Given the description of an element on the screen output the (x, y) to click on. 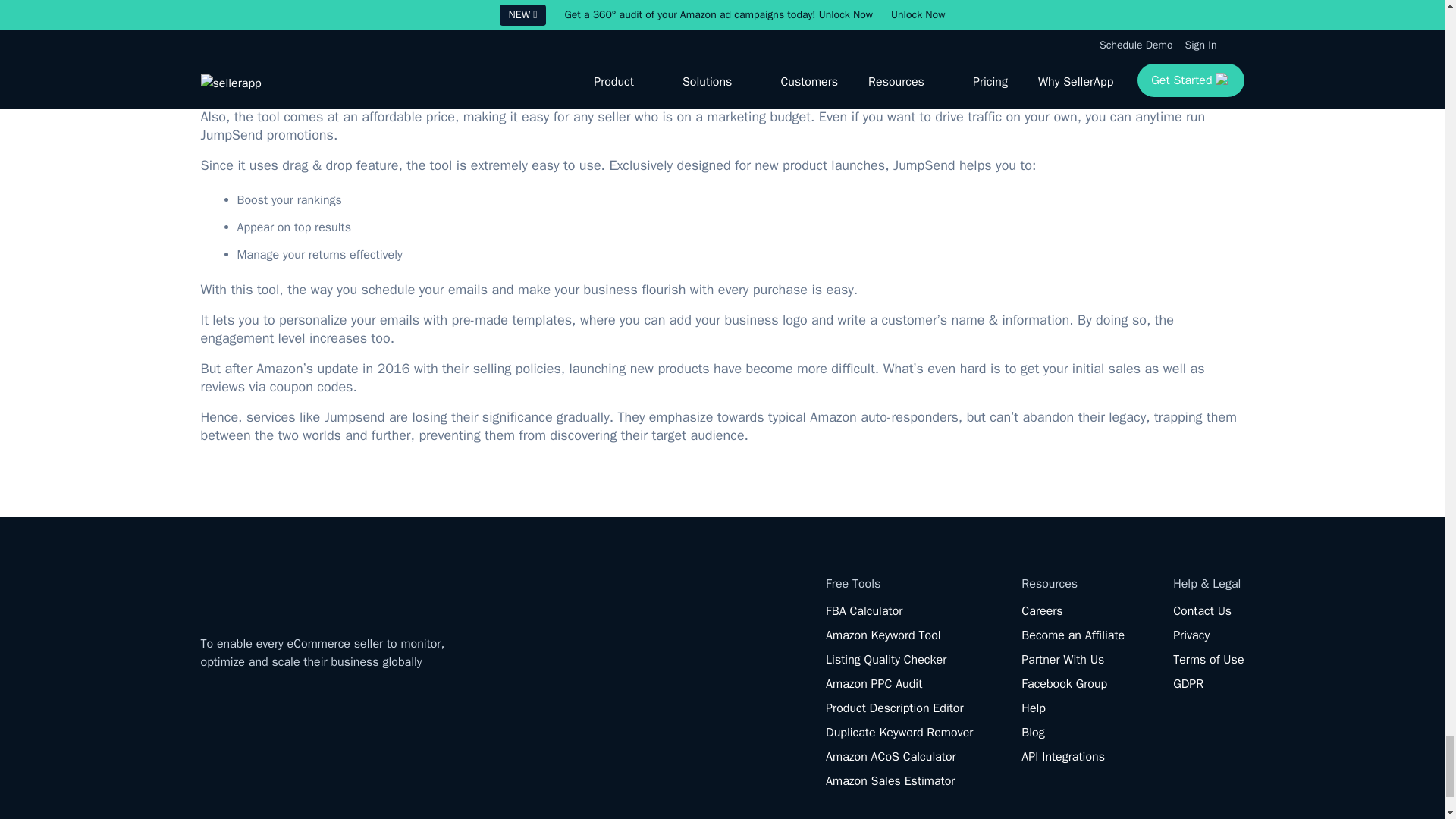
Amazon Keyword Tool (882, 635)
Amazon PPC Audit (873, 683)
Product Description Editor (893, 708)
FBA Calculator (863, 611)
Listing Quality Checker (885, 659)
